Given the description of an element on the screen output the (x, y) to click on. 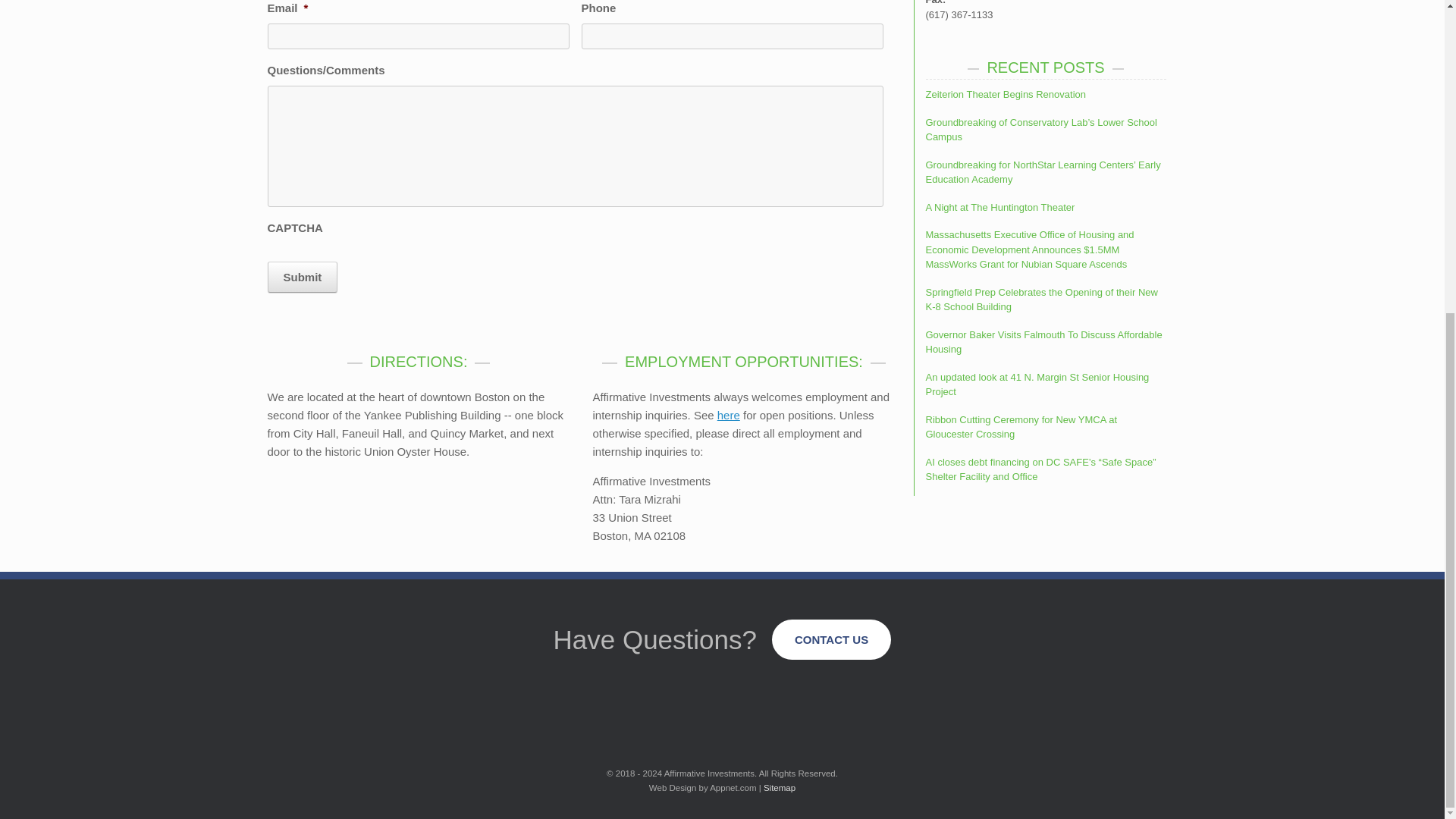
Zeiterion Theater Begins Renovation (1005, 93)
Submit (301, 276)
Submit (301, 276)
here (728, 414)
